Given the description of an element on the screen output the (x, y) to click on. 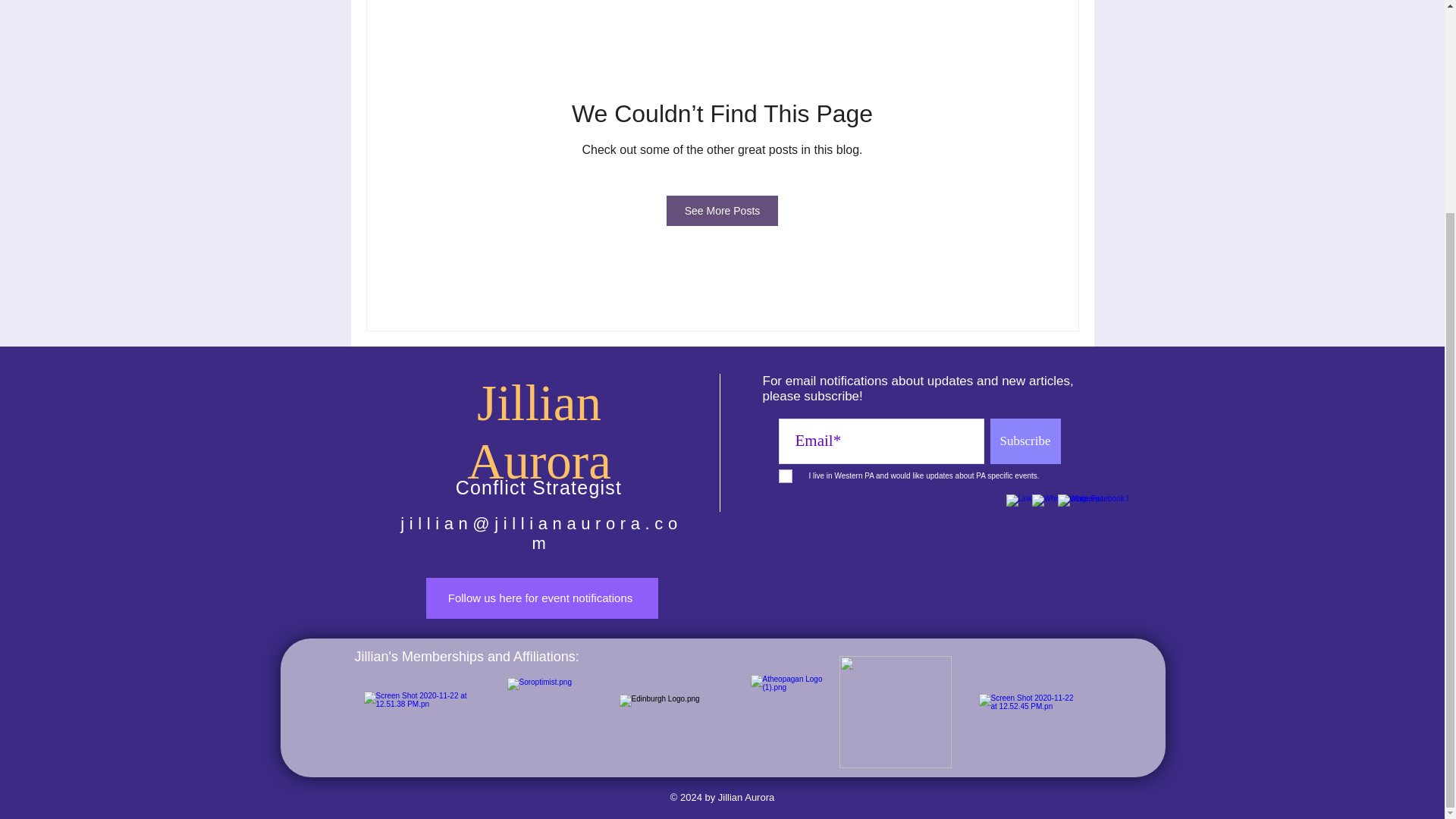
Conflict Strategist (539, 486)
Subscribe (1025, 441)
Jillian Aurora (539, 431)
See More Posts (722, 210)
Common Ground Logo.png (894, 712)
Follow us here for event notifications (542, 598)
